Given the description of an element on the screen output the (x, y) to click on. 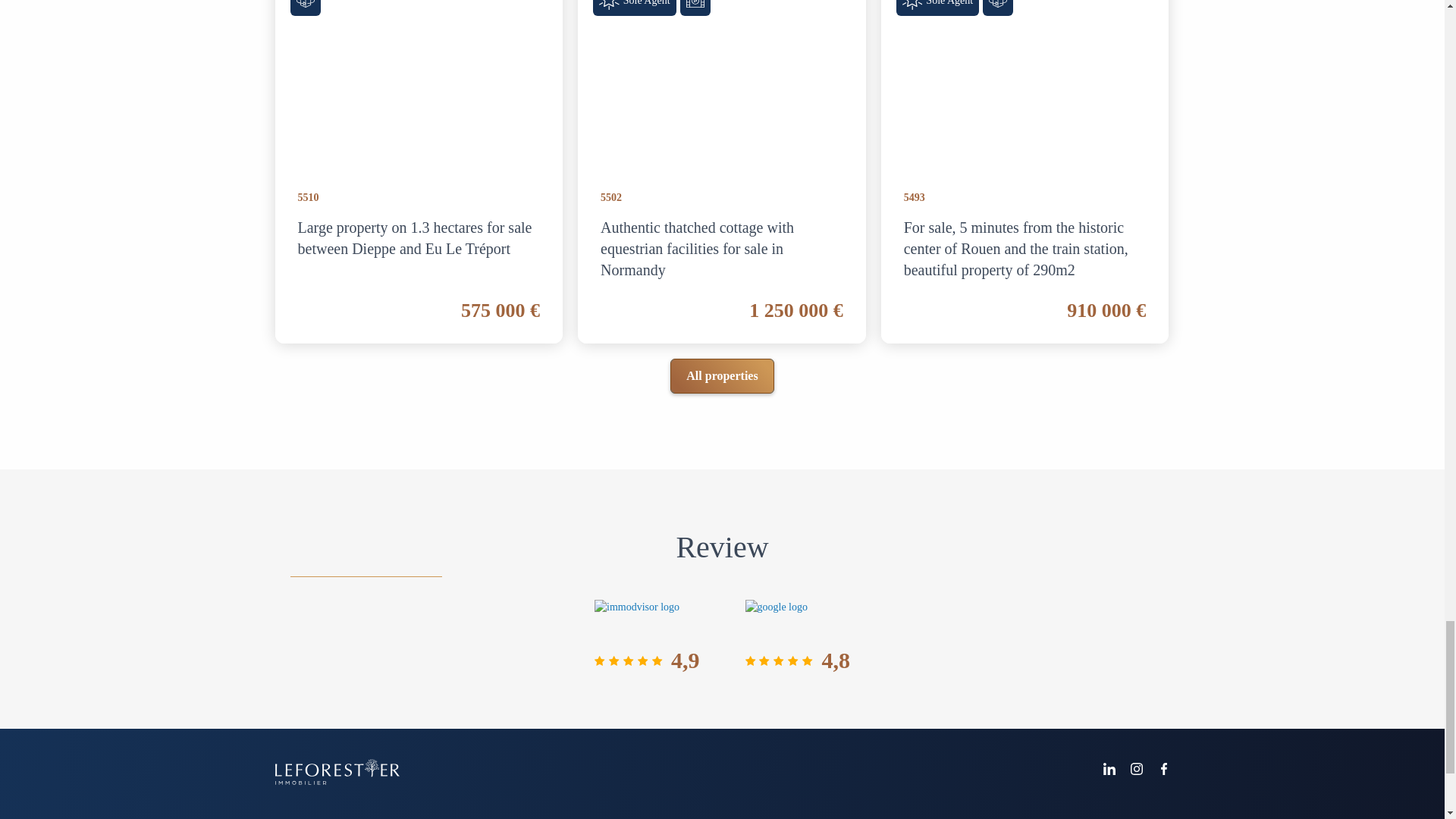
Goggle review (776, 617)
immodvisor review (636, 617)
